Given the description of an element on the screen output the (x, y) to click on. 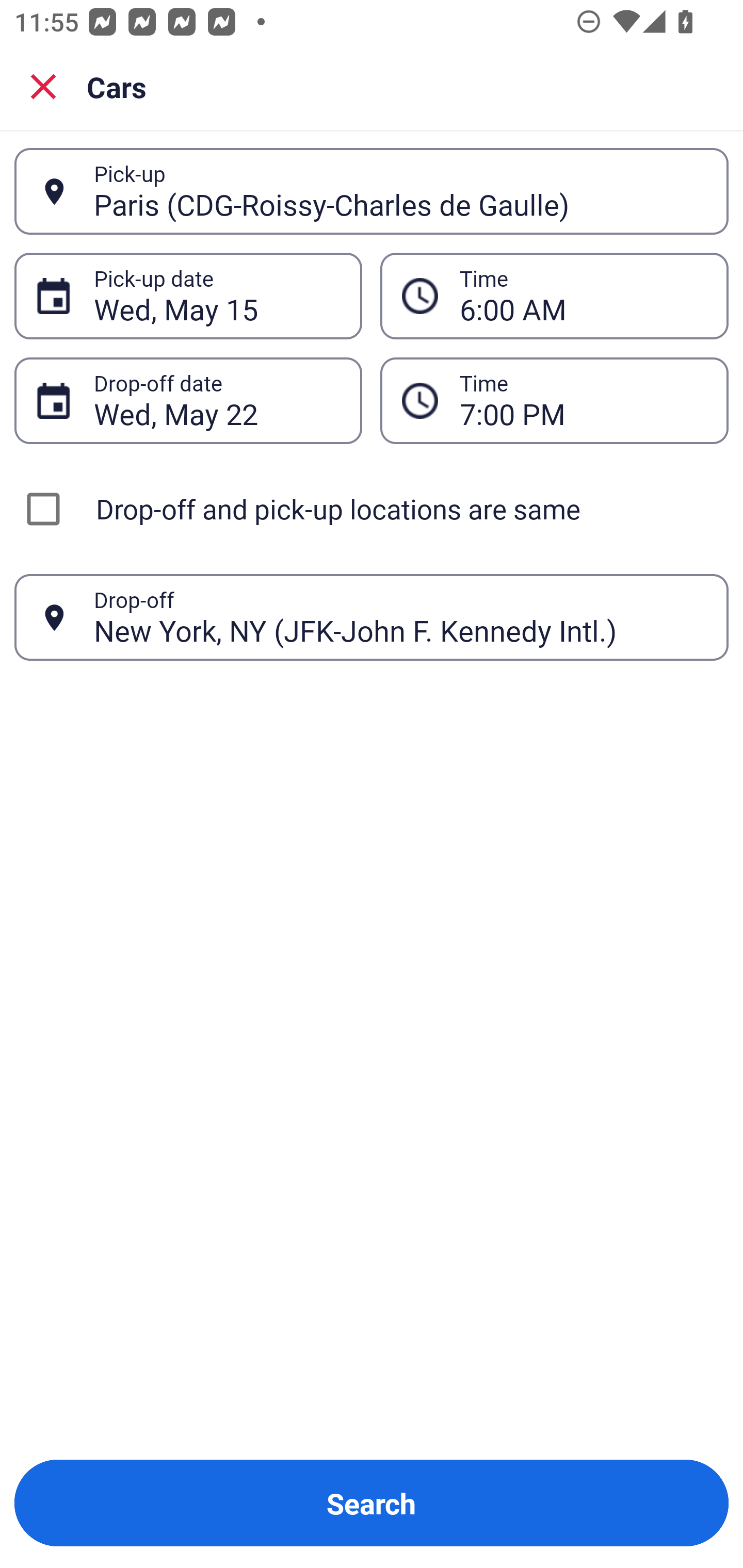
Close search screen (43, 86)
Paris (CDG-Roissy-Charles de Gaulle) Pick-up (371, 191)
Paris (CDG-Roissy-Charles de Gaulle) (399, 191)
Wed, May 15 Pick-up date (188, 295)
6:00 AM (554, 295)
Wed, May 15 (216, 296)
6:00 AM (582, 296)
Wed, May 22 Drop-off date (188, 400)
7:00 PM (554, 400)
Wed, May 22 (216, 400)
7:00 PM (582, 400)
Drop-off and pick-up locations are same (371, 508)
New York, NY (JFK-John F. Kennedy Intl.) Drop-off (371, 616)
New York, NY (JFK-John F. Kennedy Intl.) (399, 616)
Search Button Search (371, 1502)
